Given the description of an element on the screen output the (x, y) to click on. 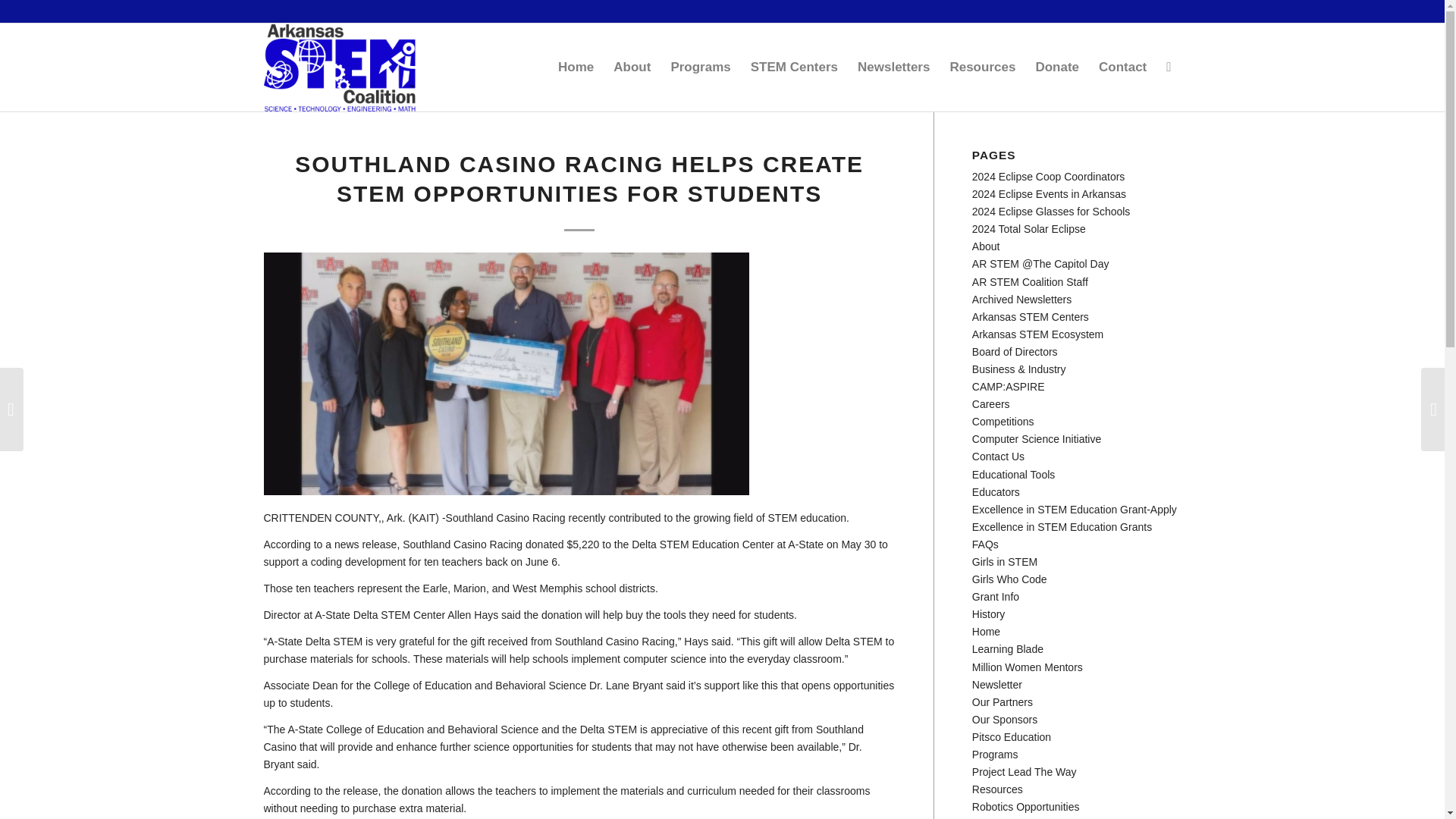
Newsletters (893, 67)
Programs (700, 67)
STEM Centers (794, 67)
Resources (982, 67)
